Given the description of an element on the screen output the (x, y) to click on. 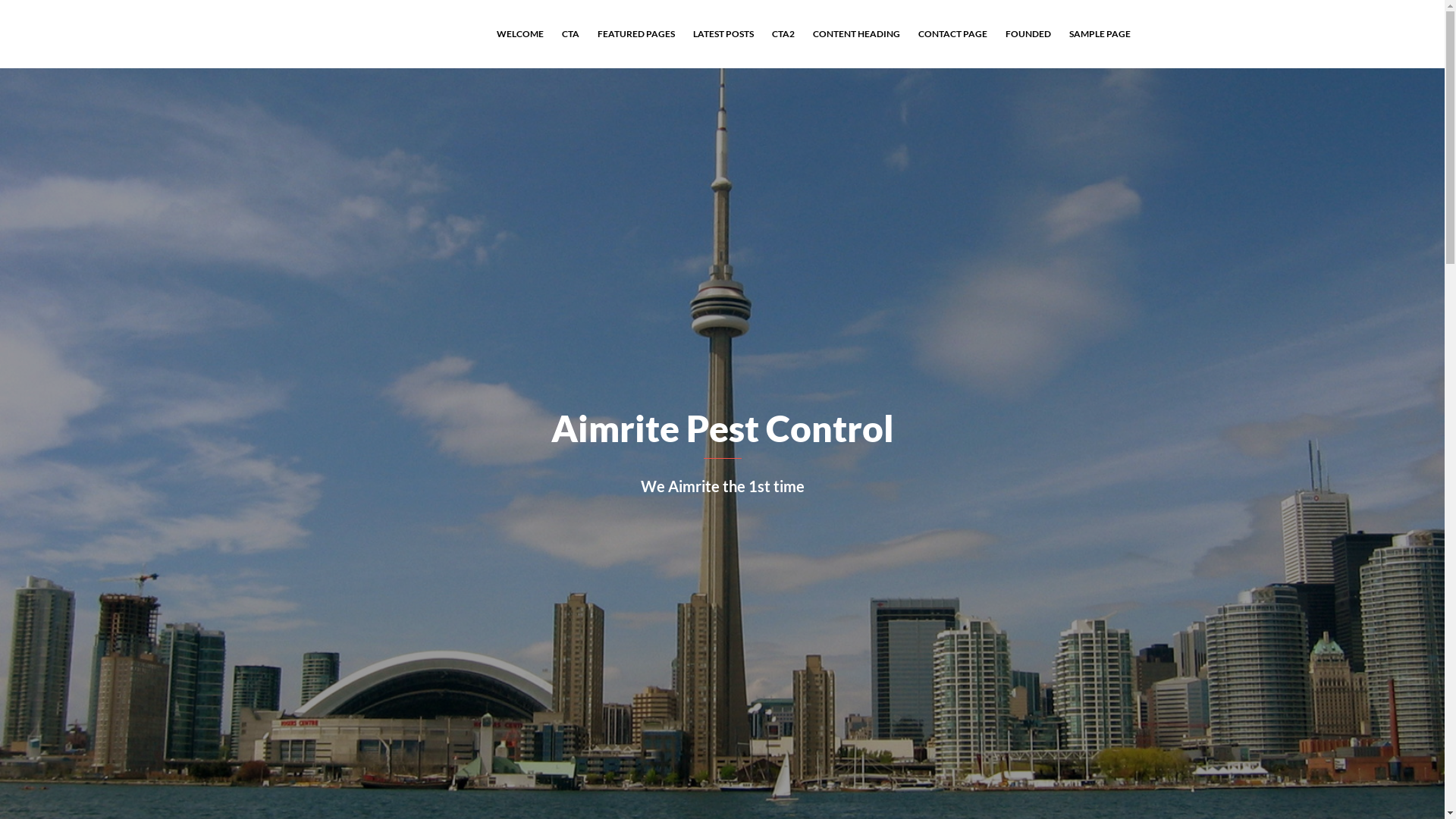
CTA2 Element type: text (782, 34)
LATEST POSTS Element type: text (723, 34)
CONTENT HEADING Element type: text (856, 34)
SAMPLE PAGE Element type: text (1099, 34)
FEATURED PAGES Element type: text (636, 34)
WELCOME Element type: text (519, 34)
CTA Element type: text (569, 34)
FOUNDED Element type: text (1028, 34)
CONTACT PAGE Element type: text (951, 34)
